Given the description of an element on the screen output the (x, y) to click on. 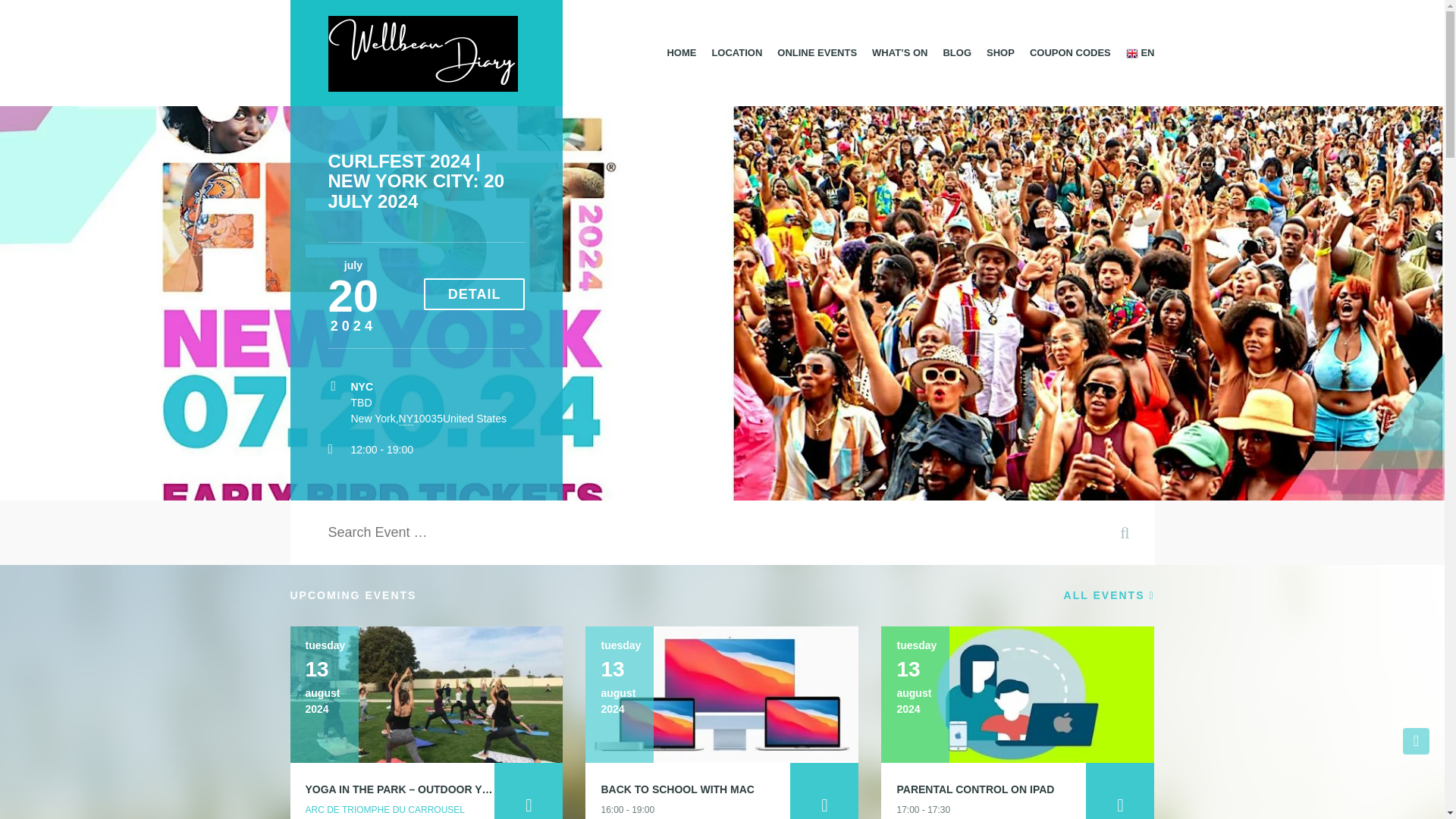
HOME (681, 52)
New York (405, 418)
ONLINE EVENTS (817, 52)
English (1139, 52)
BLOG (956, 52)
COUPON CODES (1070, 52)
DETAIL (474, 294)
EN (1139, 52)
SHOP (1000, 52)
LOCATION (736, 52)
